Given the description of an element on the screen output the (x, y) to click on. 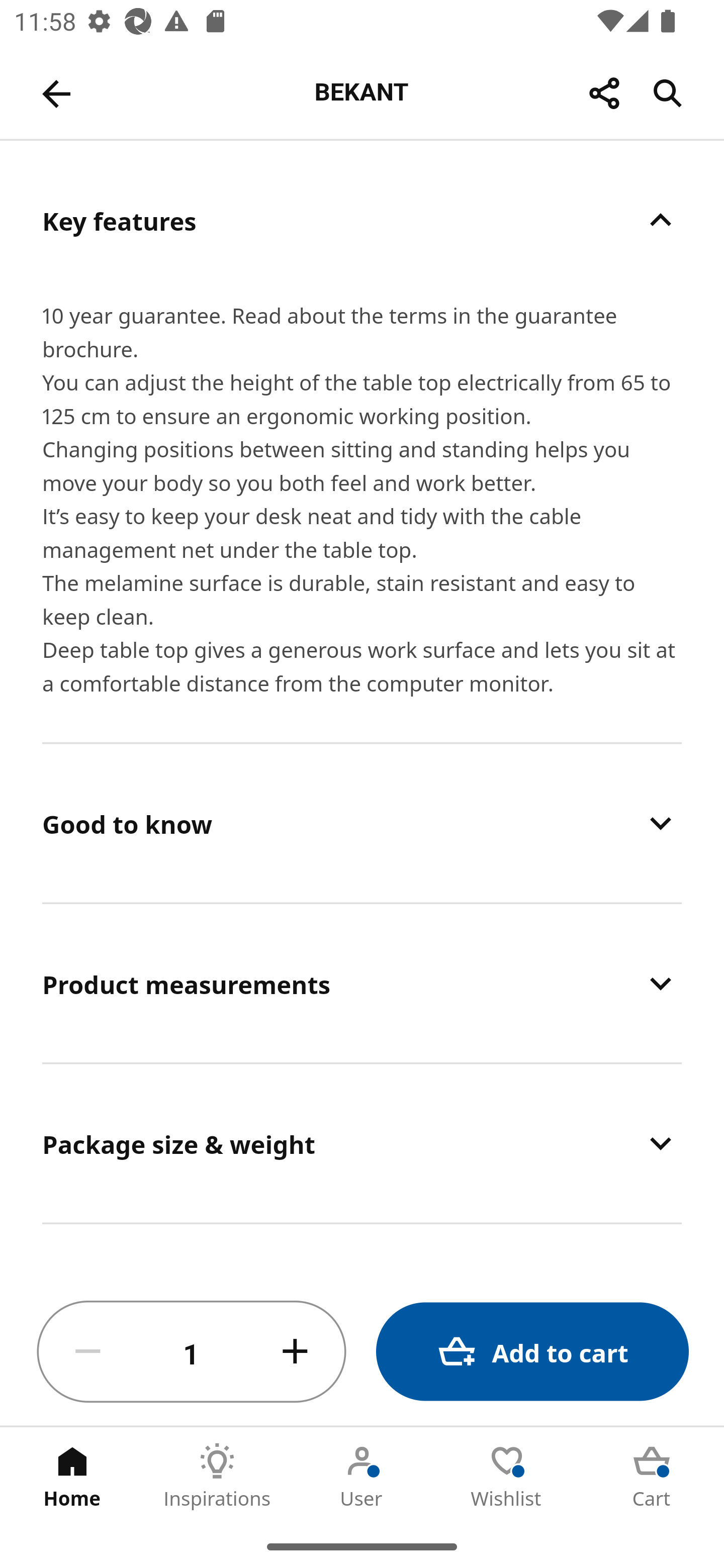
Key features (361, 219)
Good to know (361, 823)
Product measurements (361, 983)
Package size & weight (361, 1143)
Add to cart (531, 1352)
1 (191, 1352)
Home
Tab 1 of 5 (72, 1476)
Inspirations
Tab 2 of 5 (216, 1476)
User
Tab 3 of 5 (361, 1476)
Wishlist
Tab 4 of 5 (506, 1476)
Cart
Tab 5 of 5 (651, 1476)
